Given the description of an element on the screen output the (x, y) to click on. 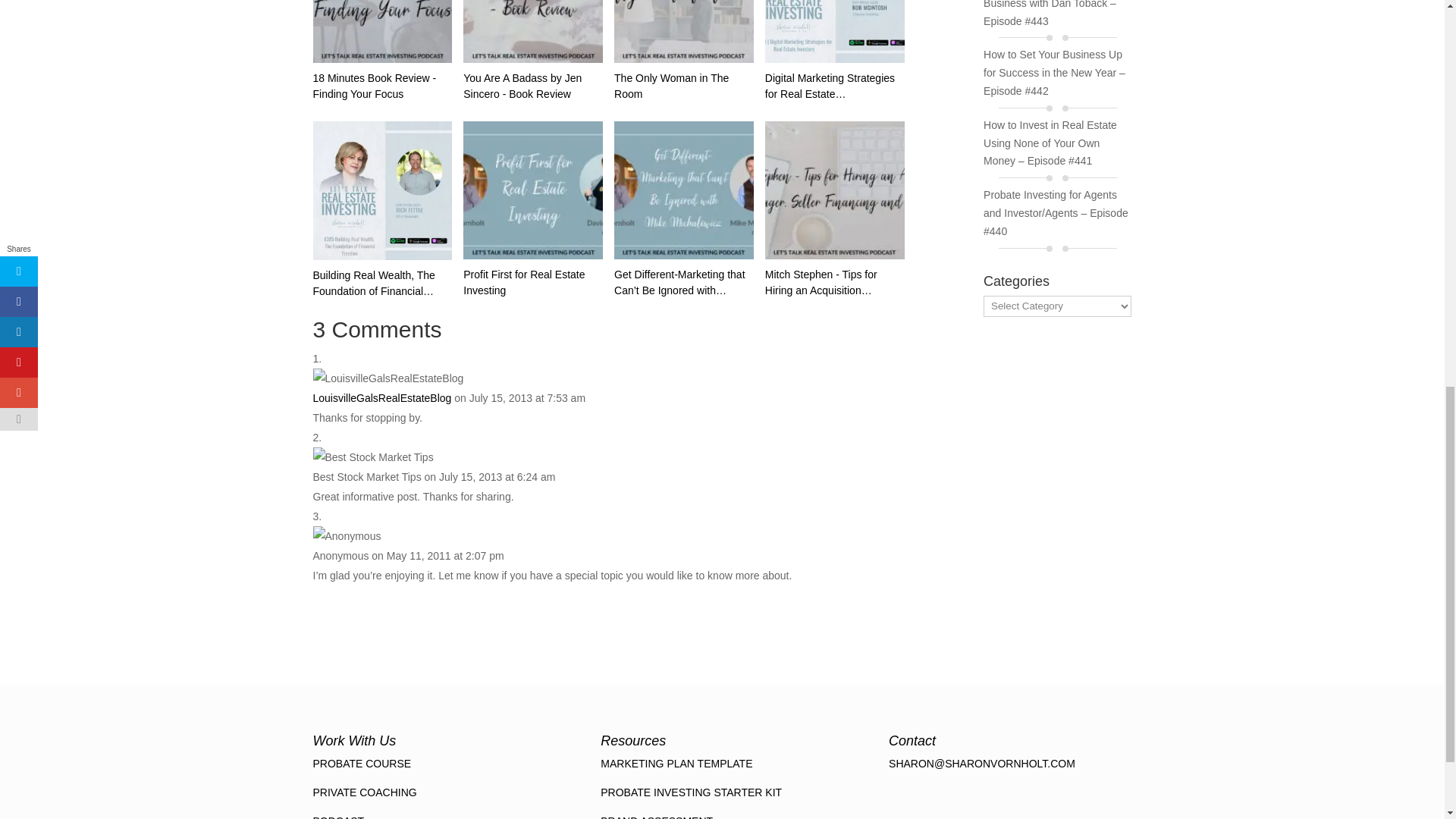
PROBATE INVESTING STARTER KIT (690, 792)
You Are A Badass by Jen Sincero - Book Review (532, 51)
PODCAST (338, 816)
You Are A Badass by Jen Sincero - Book Review (532, 31)
LouisvilleGalsRealEstateBlog (382, 398)
PROBATE COURSE (361, 763)
BRAND ASSESSMENT (656, 816)
MARKETING PLAN TEMPLATE (675, 763)
18 Minutes Book Review - Finding Your Focus (382, 51)
The Only Woman in The Room (684, 51)
Profit First for Real Estate Investing (532, 190)
The Only Woman in The Room (684, 31)
18 Minutes Book Review - Finding Your Focus (382, 31)
